Given the description of an element on the screen output the (x, y) to click on. 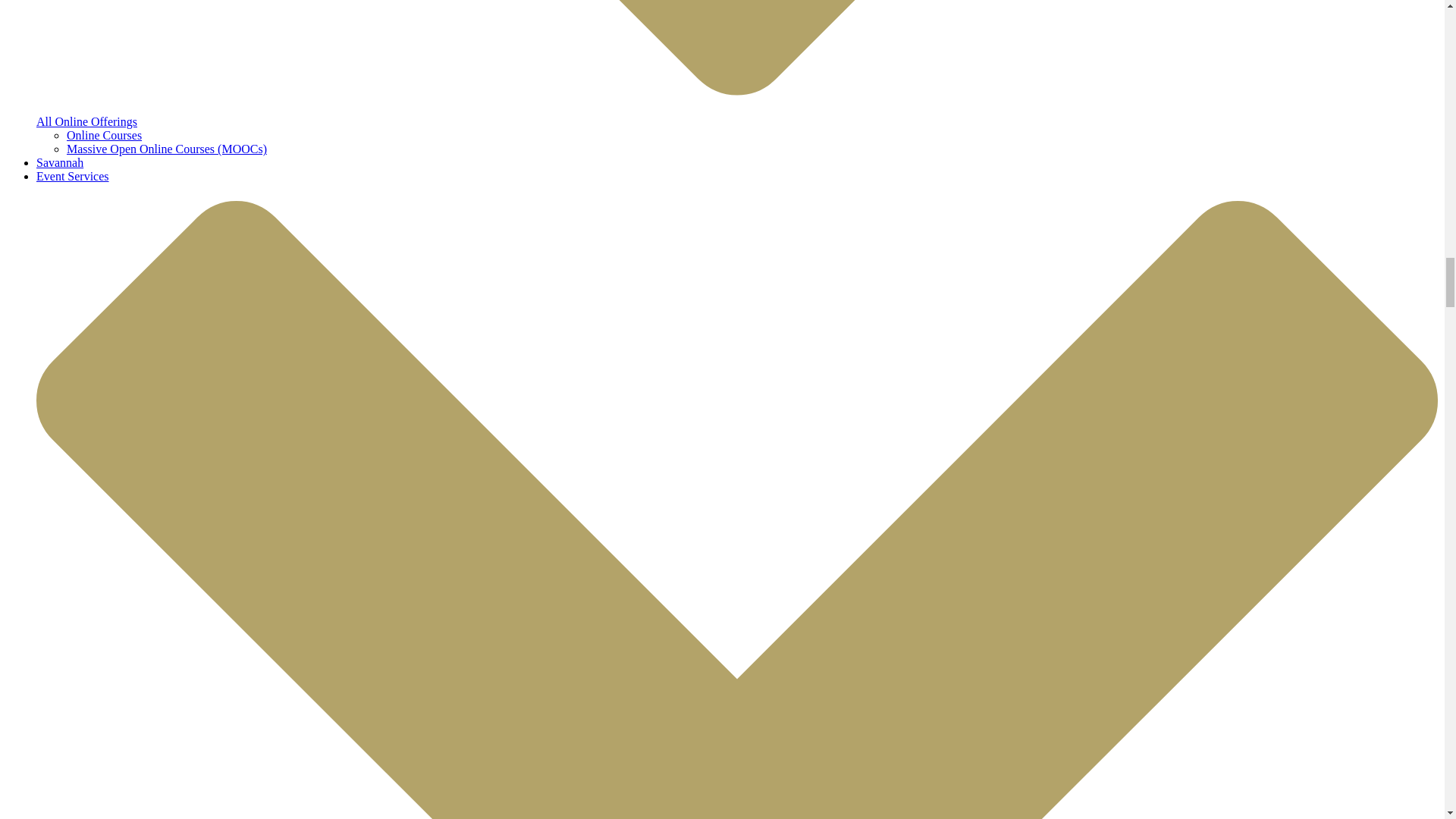
Savannah (59, 162)
Online Courses (103, 134)
All Online Offerings (86, 121)
